Given the description of an element on the screen output the (x, y) to click on. 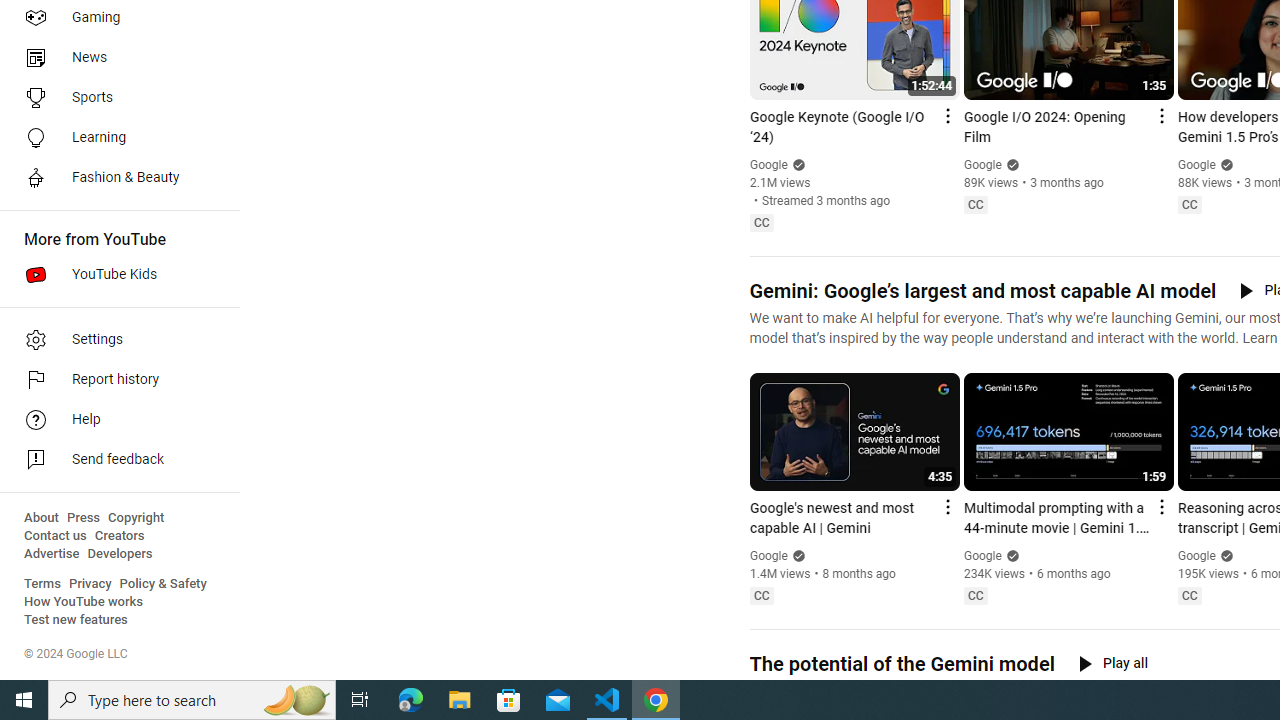
Send feedback (113, 459)
Settings (113, 339)
